Given the description of an element on the screen output the (x, y) to click on. 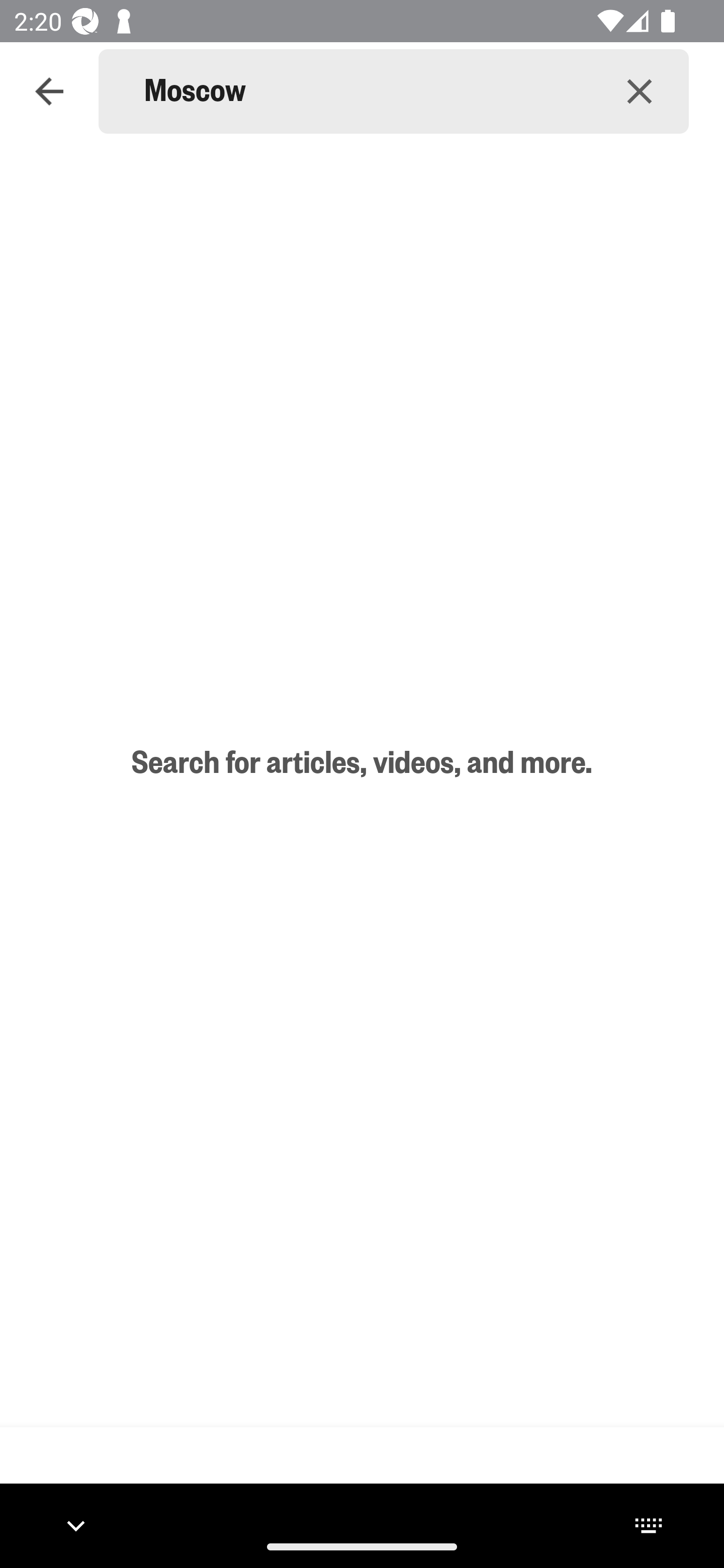
Navigate up (49, 91)
Clear query (639, 90)
Moscow (367, 91)
